Given the description of an element on the screen output the (x, y) to click on. 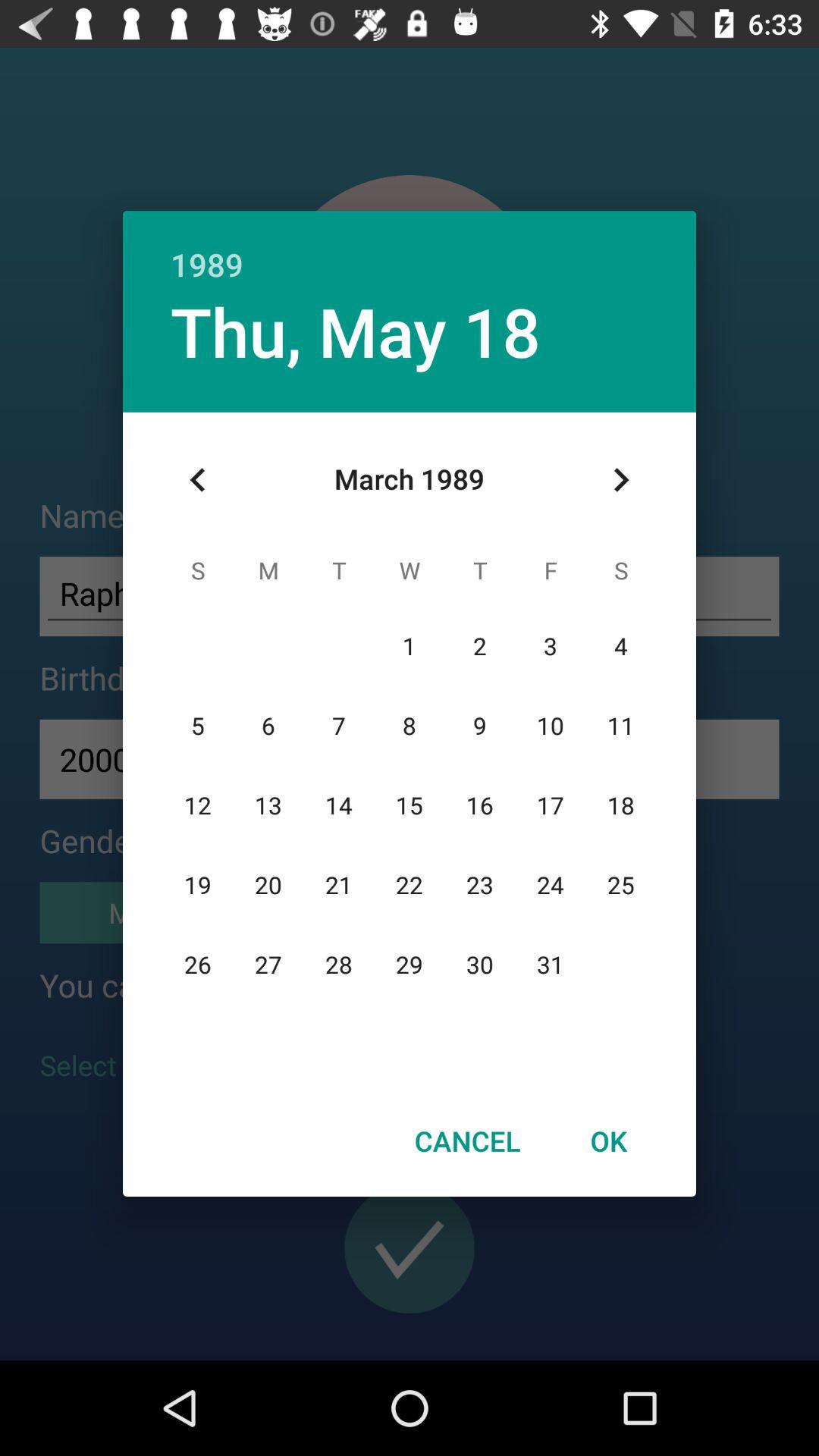
choose the 1989 app (409, 248)
